Given the description of an element on the screen output the (x, y) to click on. 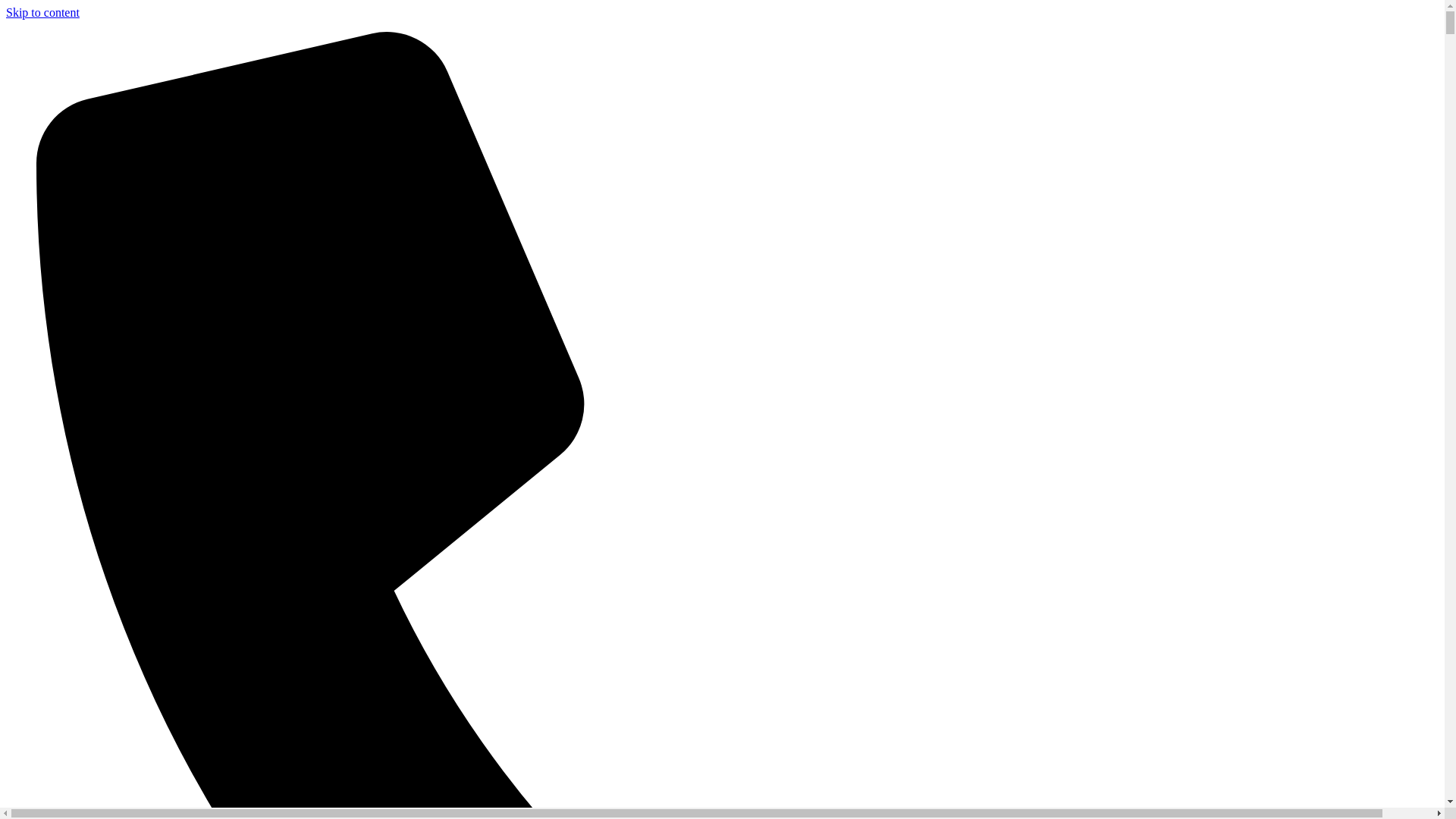
Skip to content (42, 11)
